Given the description of an element on the screen output the (x, y) to click on. 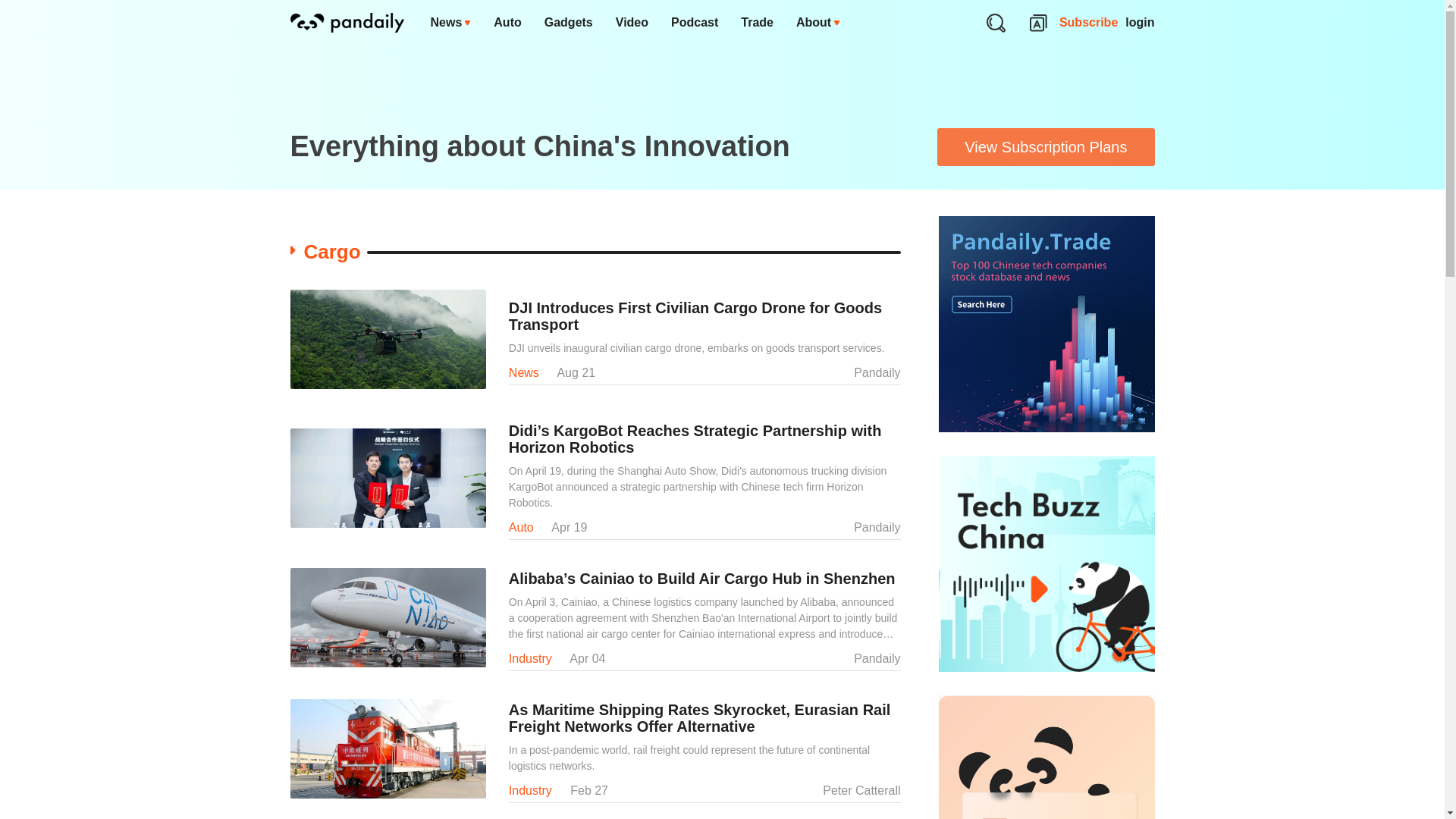
Subscribe (1088, 22)
Aug 21 (575, 372)
News (450, 22)
Podcast (694, 22)
Auto (521, 526)
News (523, 372)
Pandaily (876, 372)
About (817, 22)
Auto (506, 22)
